Given the description of an element on the screen output the (x, y) to click on. 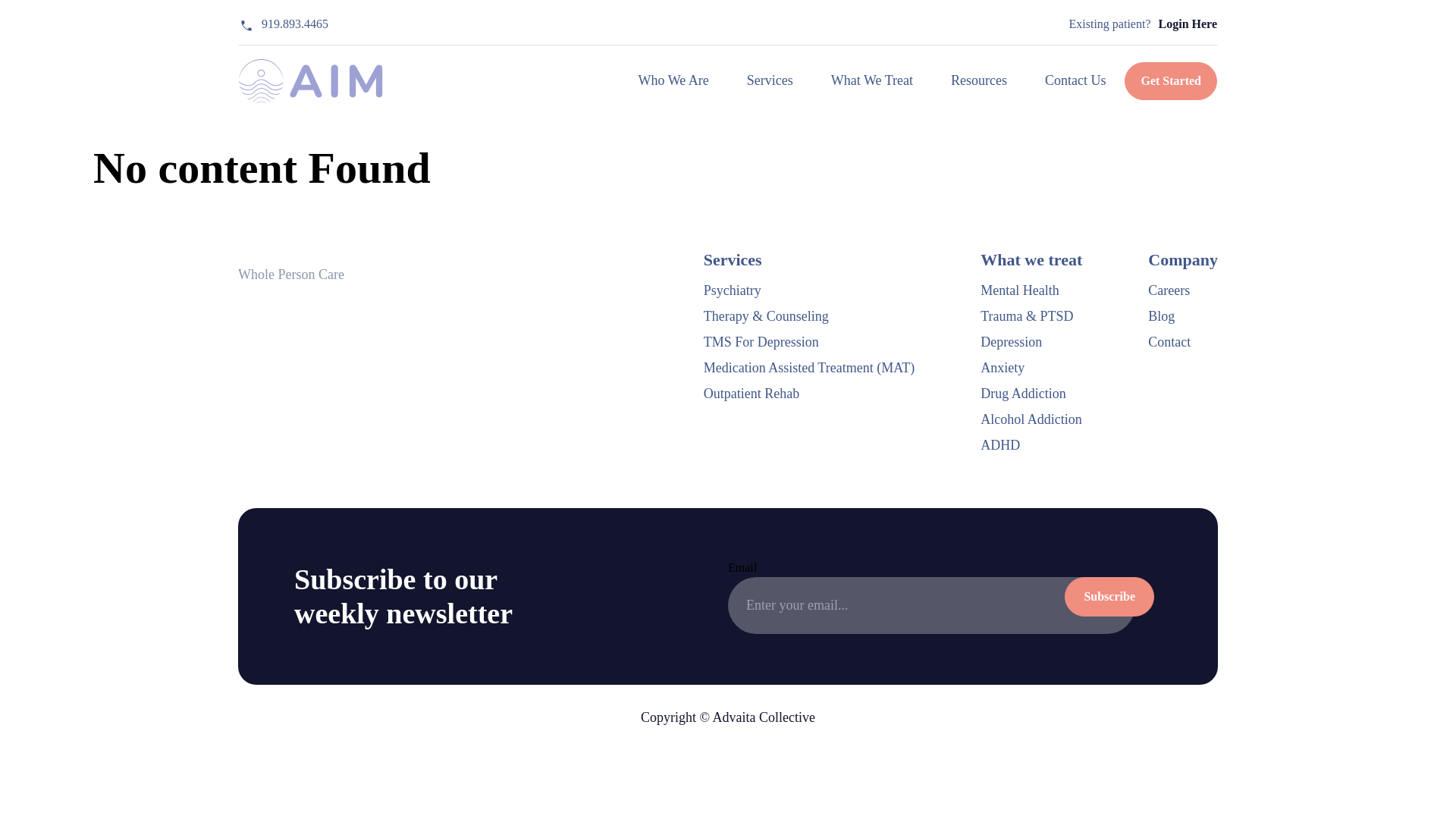
Subscribe (1109, 595)
What We Treat (871, 79)
Resources (978, 79)
Services (769, 79)
919.893.4465 (283, 24)
Login Here (1187, 24)
Who We Are (674, 79)
